Given the description of an element on the screen output the (x, y) to click on. 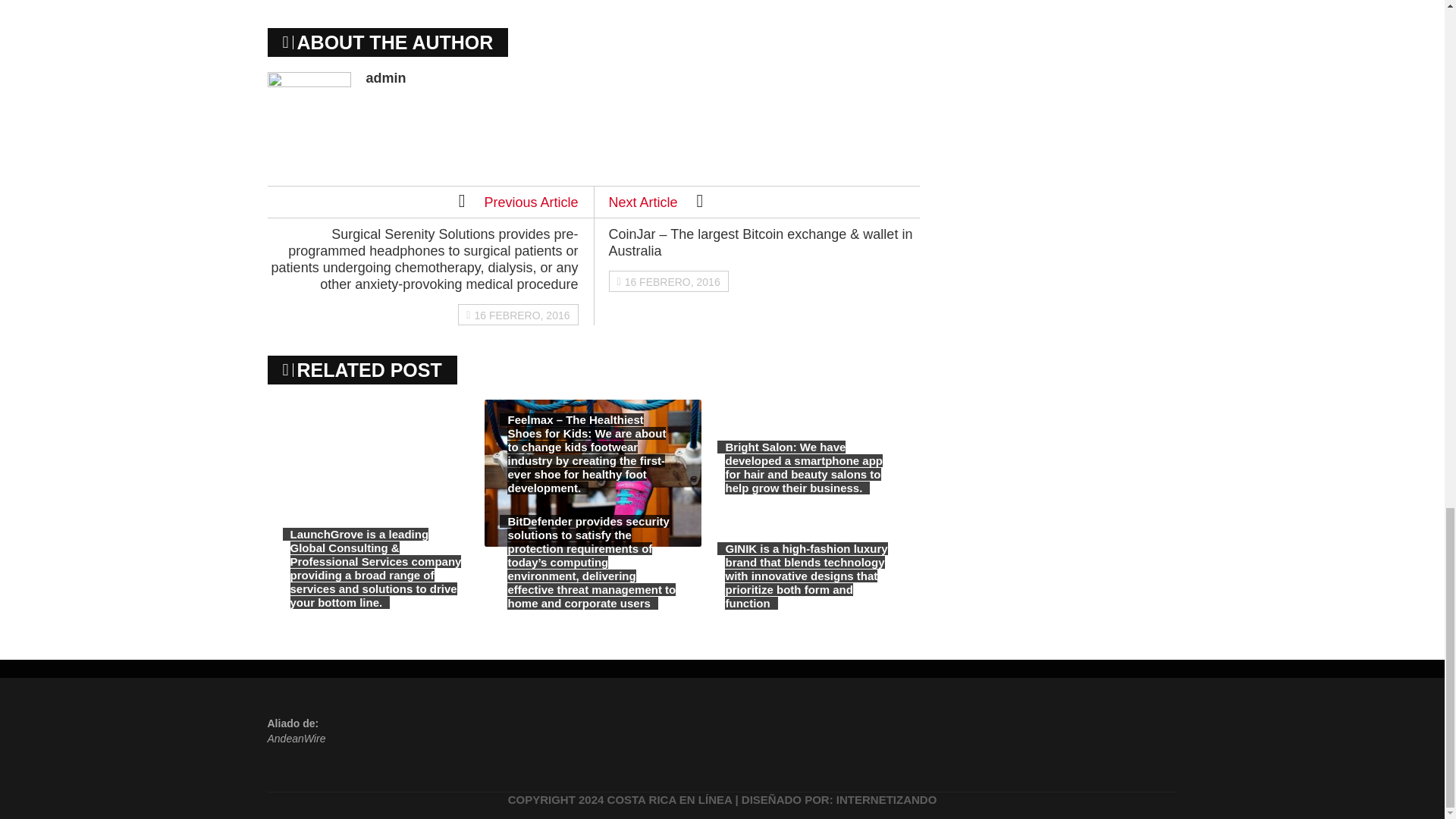
Entradas de admin (385, 77)
